Given the description of an element on the screen output the (x, y) to click on. 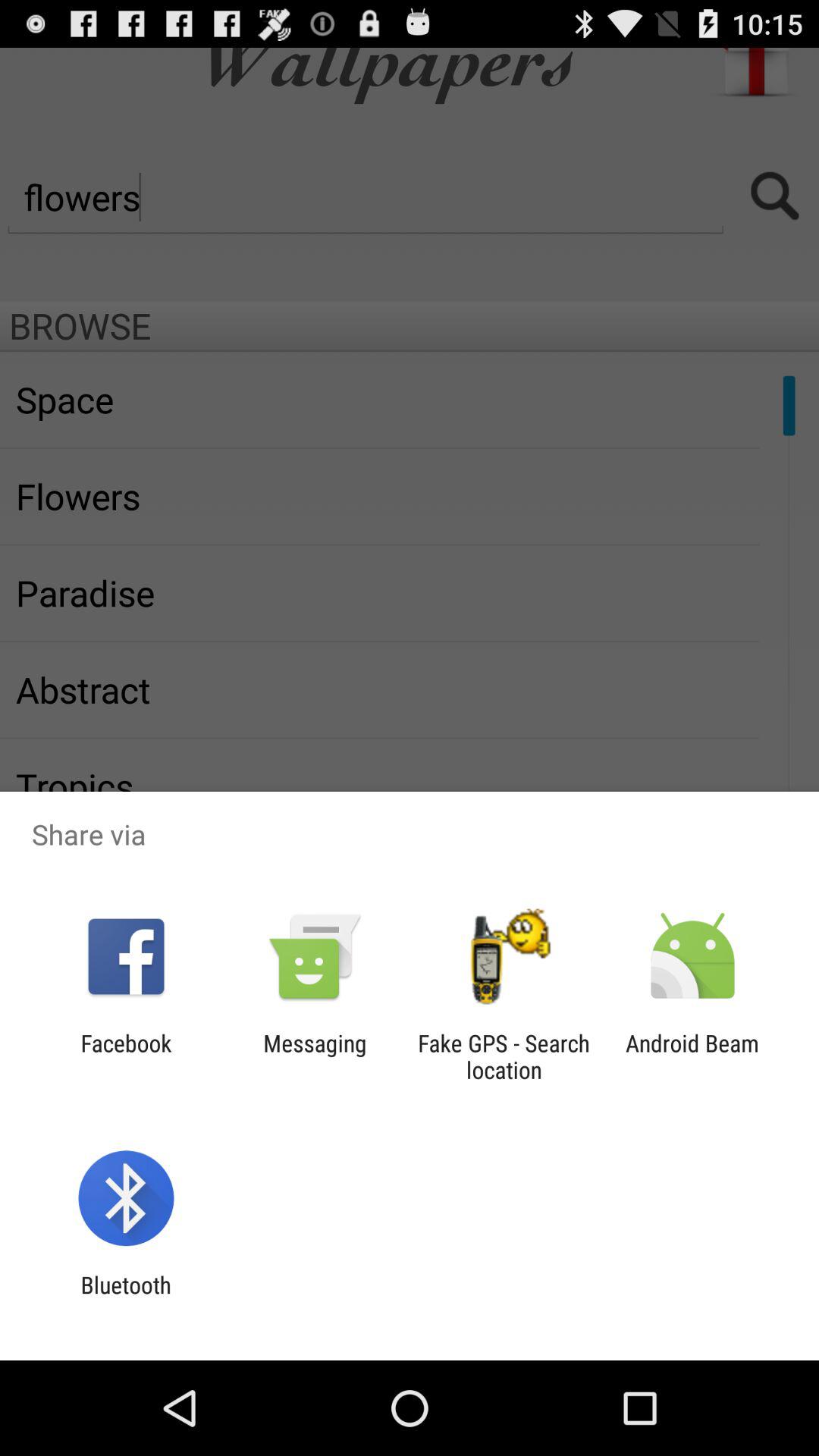
tap app next to fake gps search item (692, 1056)
